Given the description of an element on the screen output the (x, y) to click on. 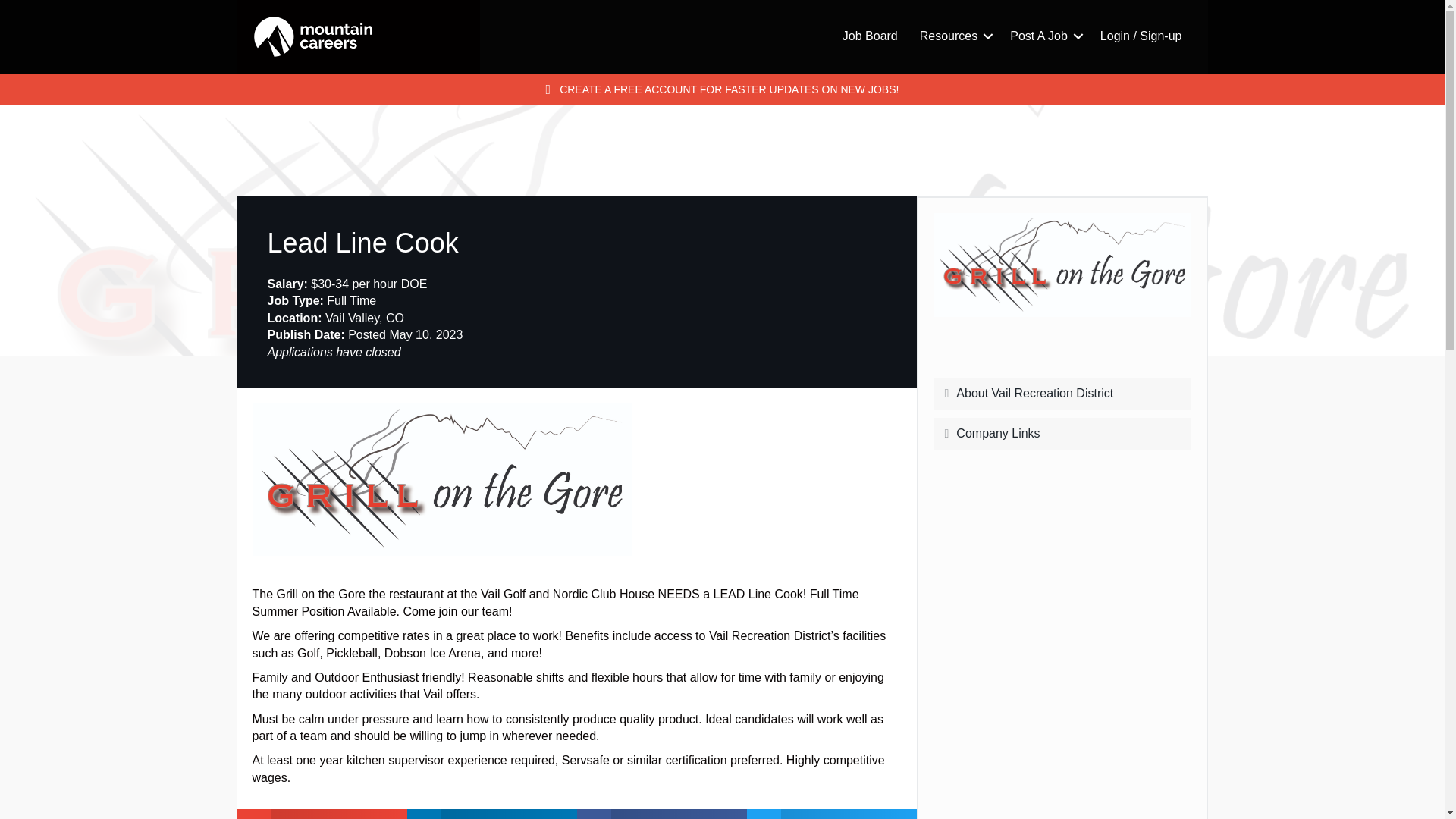
Job Board (869, 36)
Lead Line Cook (1062, 264)
Resources (953, 36)
About Vail Recreation District (1067, 393)
Post A Job (1043, 36)
Share on Facebook (660, 814)
Company Links (1067, 433)
Share via Email (320, 814)
MTC-Logo-Inline-Whitesmall (311, 36)
Share on LinkedIn (491, 814)
